Given the description of an element on the screen output the (x, y) to click on. 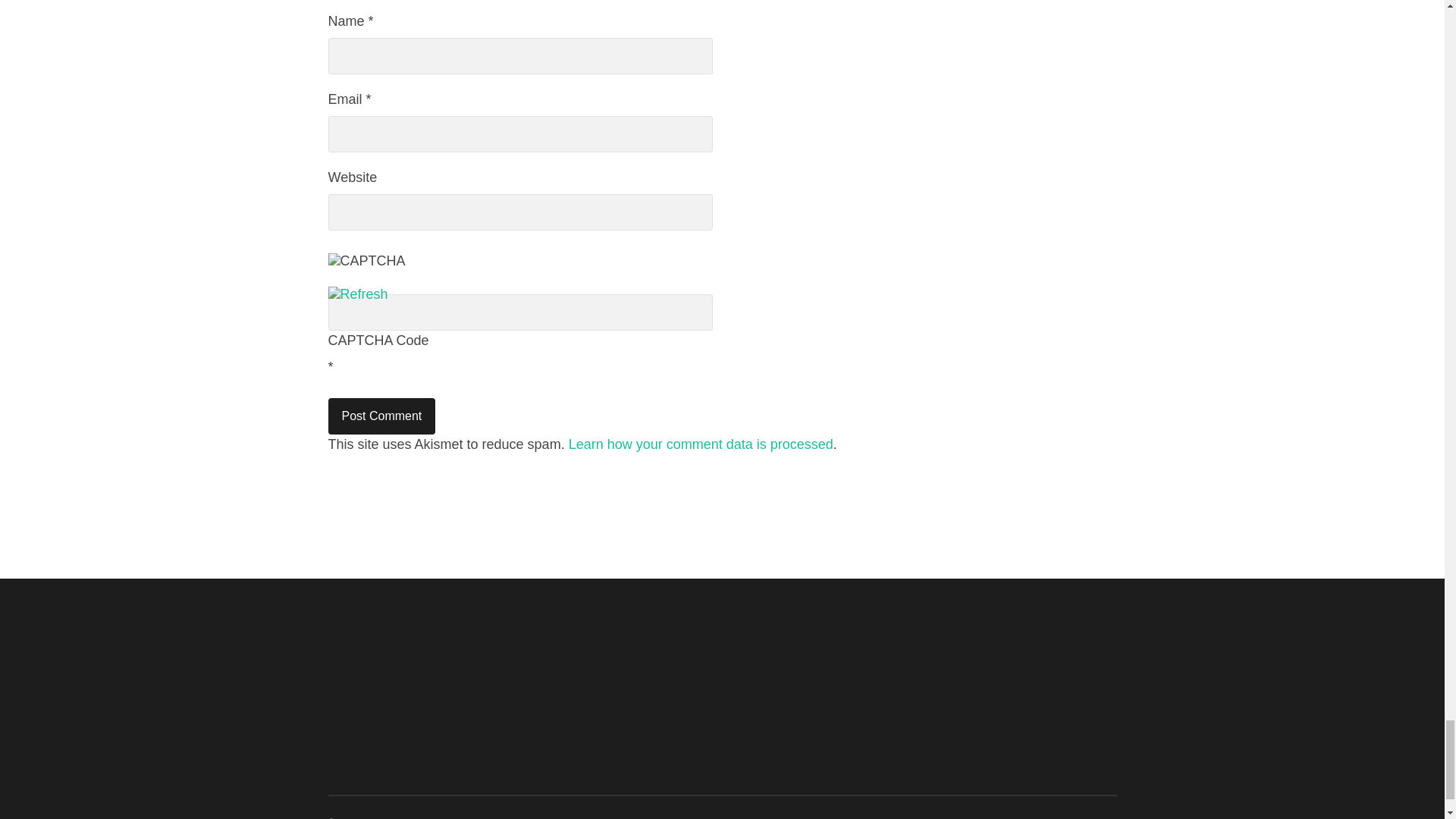
Refresh (357, 294)
CAPTCHA (377, 269)
To the top (1104, 817)
Post Comment (381, 416)
